Given the description of an element on the screen output the (x, y) to click on. 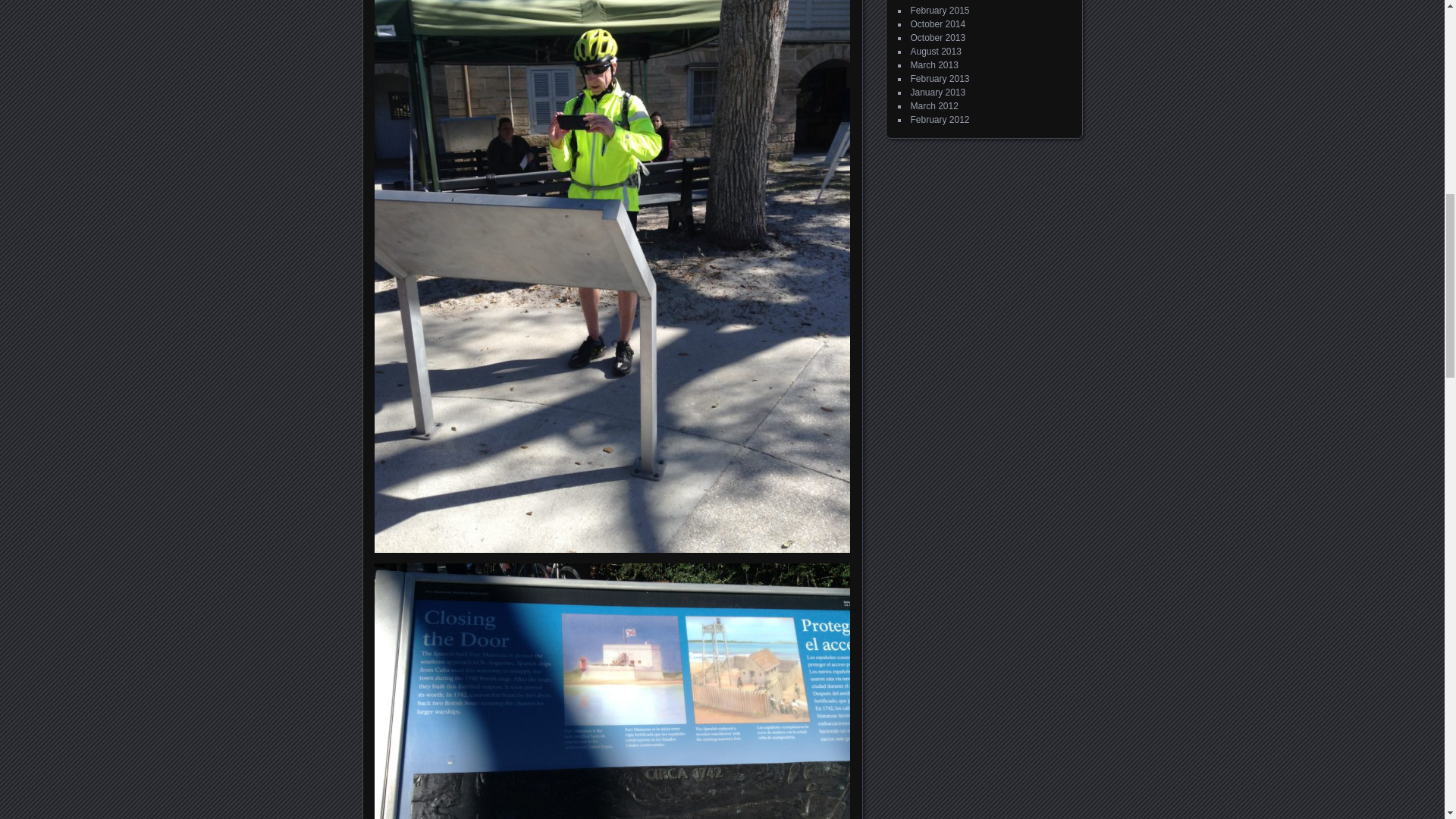
February 2015 (939, 9)
October 2013 (937, 37)
October 2014 (937, 23)
August 2013 (935, 50)
March 2015 (934, 1)
March 2013 (934, 64)
